Given the description of an element on the screen output the (x, y) to click on. 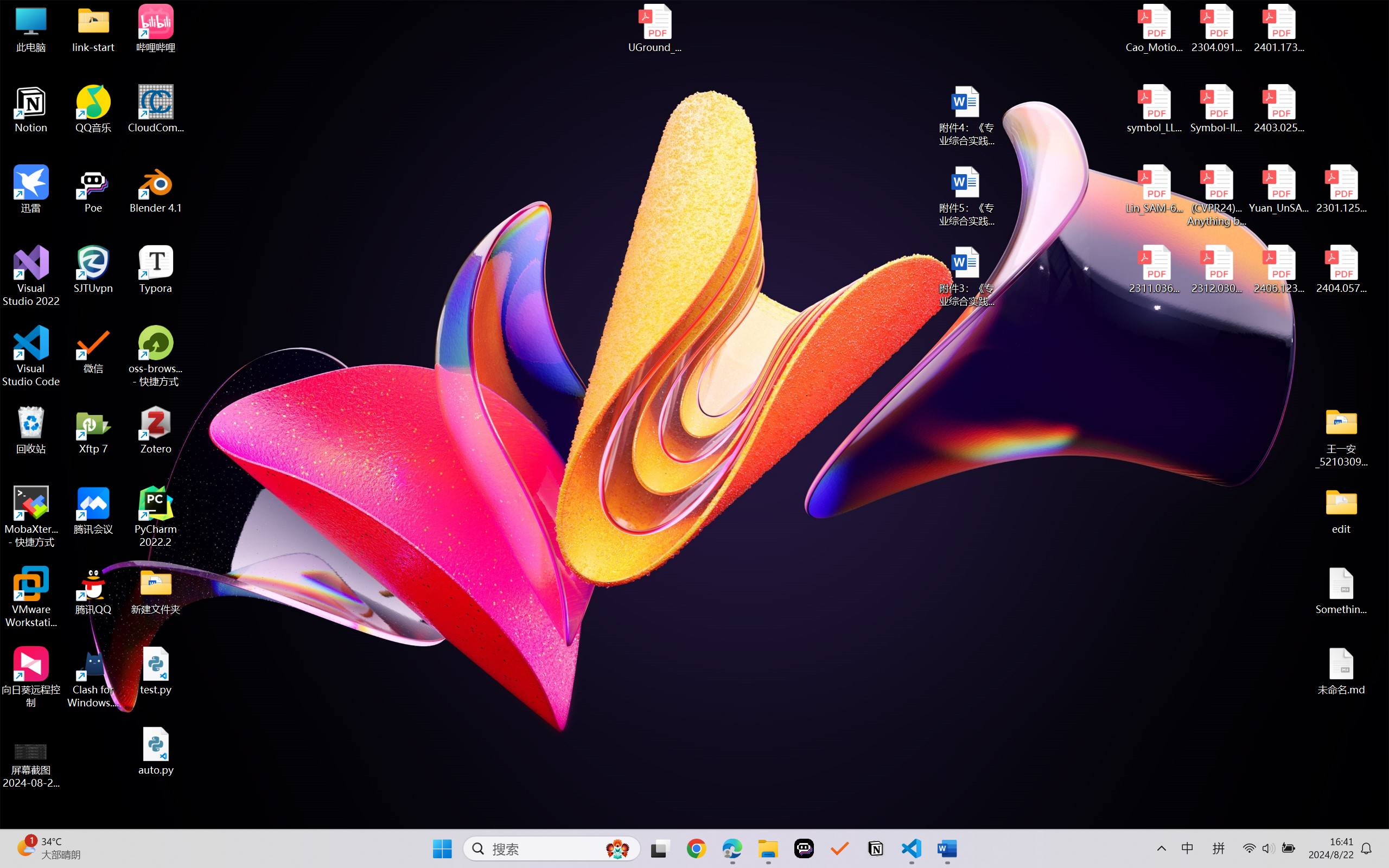
symbol_LLM.pdf (1154, 109)
Typora (156, 269)
2403.02502v1.pdf (1278, 109)
auto.py (156, 751)
Something.md (1340, 591)
PyCharm 2022.2 (156, 516)
Notion (875, 848)
